Given the description of an element on the screen output the (x, y) to click on. 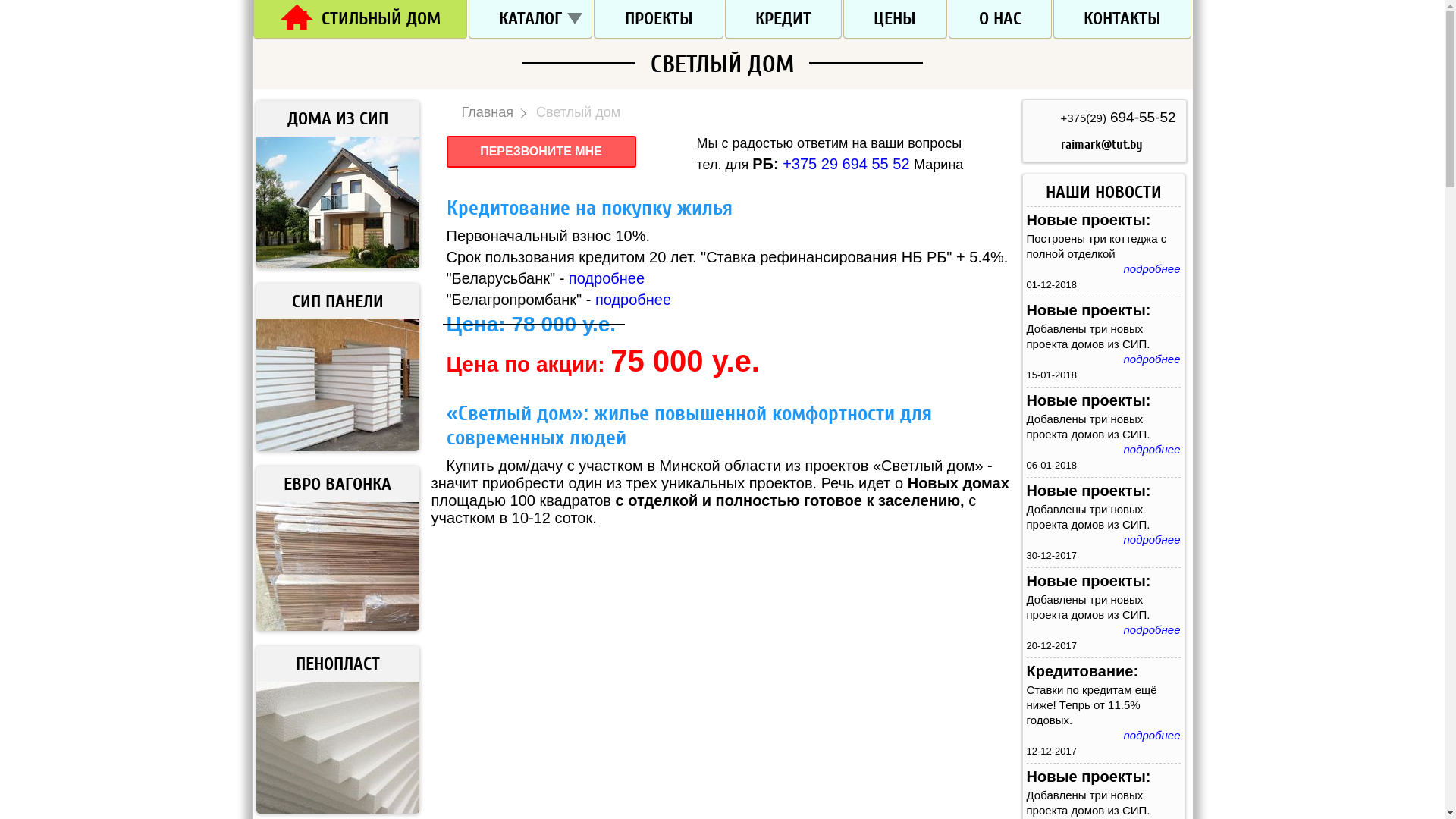
raimark@tut.by Element type: text (1101, 144)
